Given the description of an element on the screen output the (x, y) to click on. 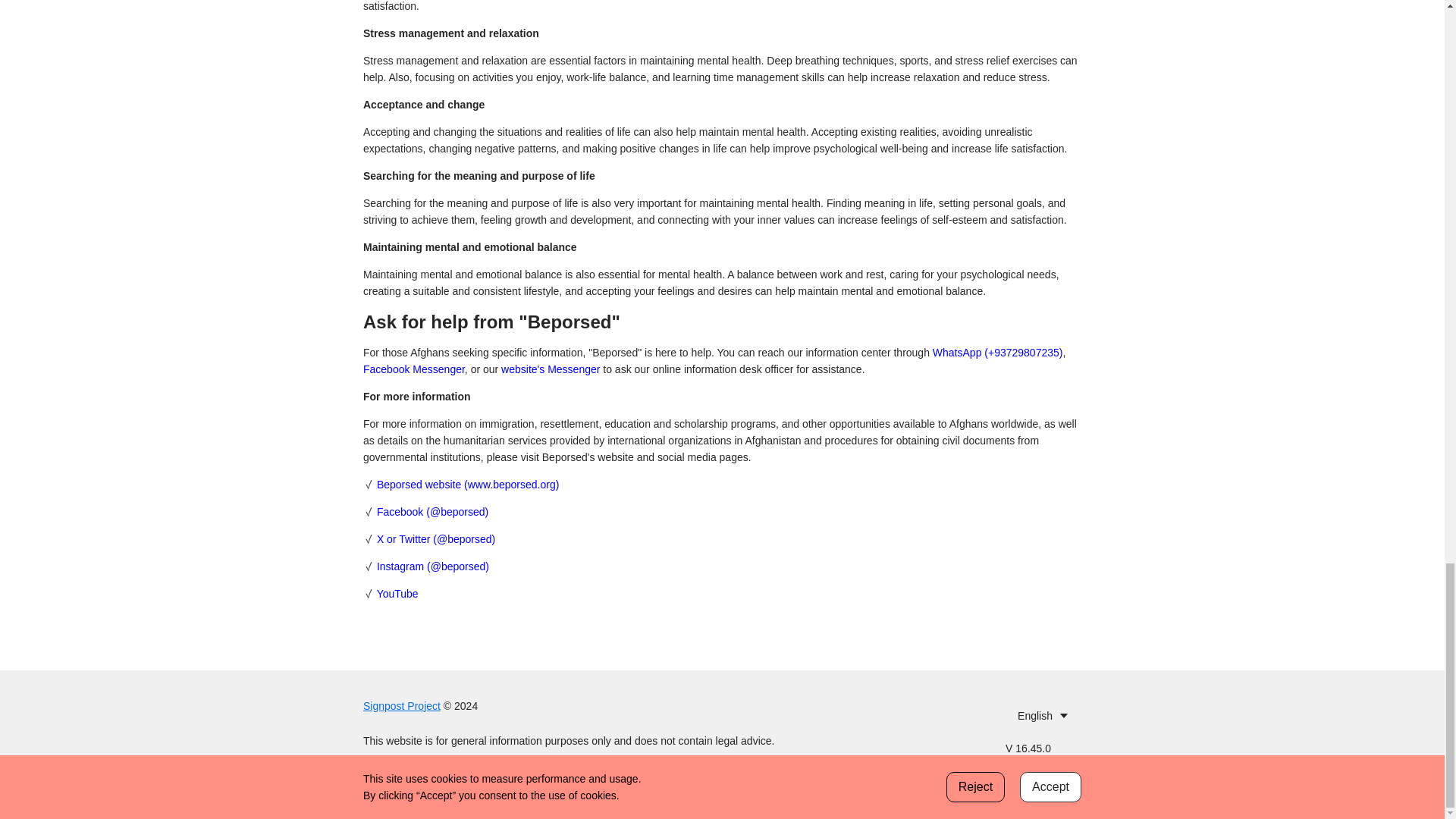
English (1043, 715)
About (461, 779)
Services (419, 779)
Signpost Project (401, 705)
Home (377, 779)
YouTube (398, 593)
website's Messenger (549, 369)
Facebook Messenger (413, 369)
